Given the description of an element on the screen output the (x, y) to click on. 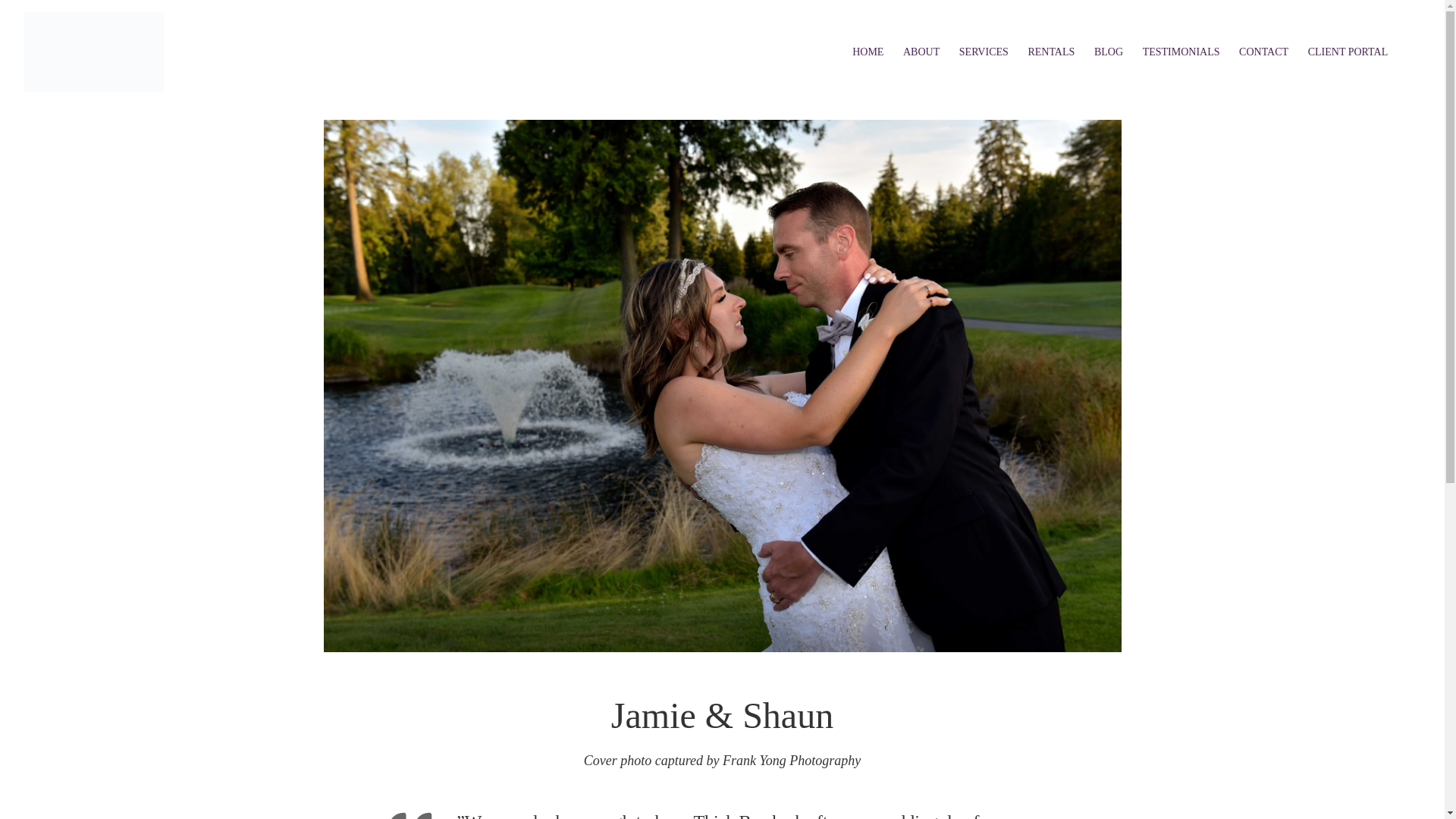
CLIENT PORTAL (1347, 51)
RENTALS (1050, 51)
HOME (868, 51)
BLOG (1108, 51)
CONTACT (1263, 51)
ABOUT (921, 51)
Cover photo captured by Frank Yong Photography (722, 760)
SERVICES (983, 51)
TESTIMONIALS (1180, 51)
